Given the description of an element on the screen output the (x, y) to click on. 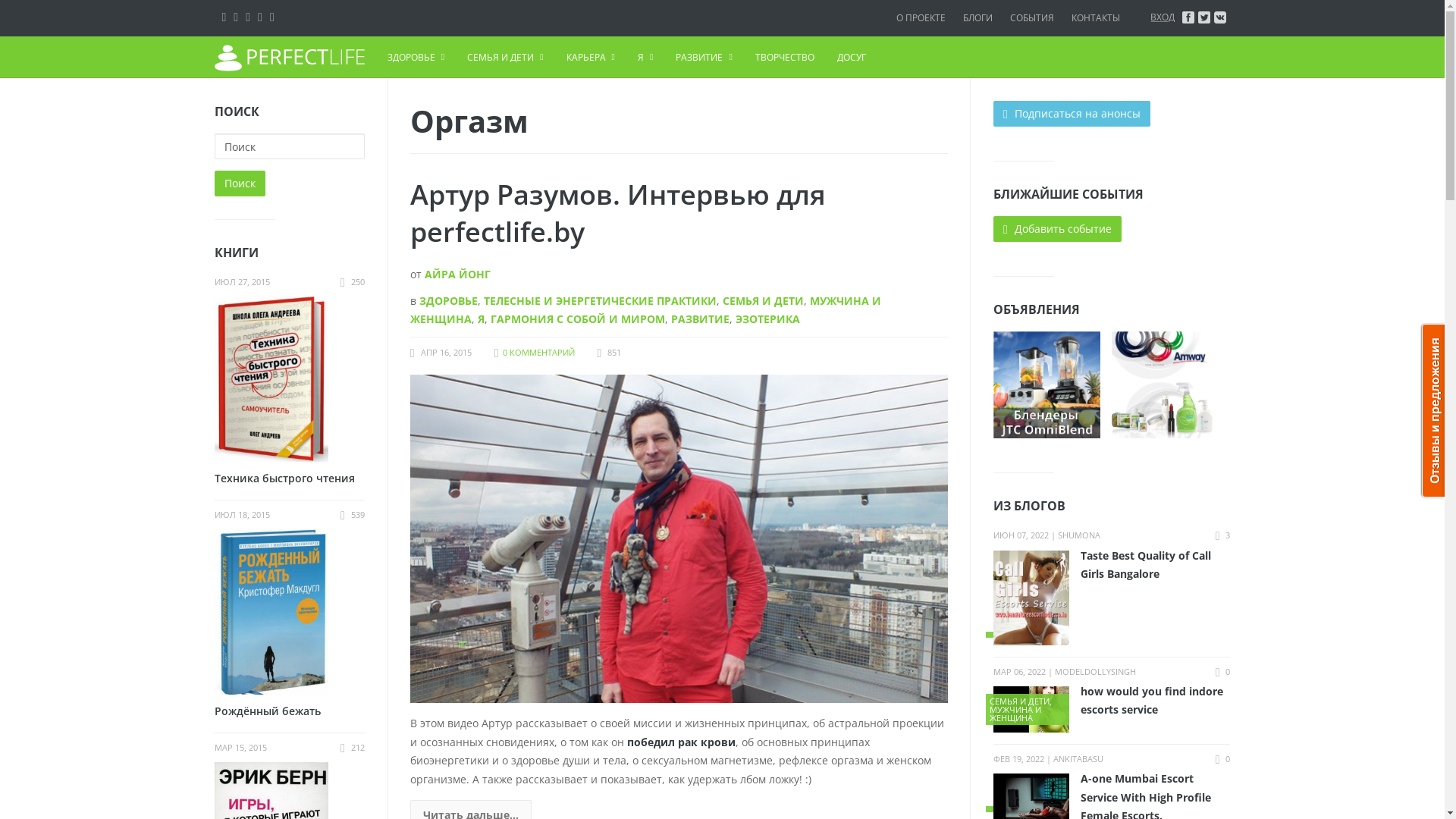
Google+ Element type: hover (259, 15)
Facebook Element type: hover (235, 15)
Taste Best Quality of Call Girls Bangalore Element type: text (1111, 564)
Youtube Element type: hover (271, 15)
Twitter Element type: hover (247, 15)
vkontakte Element type: hover (1220, 17)
twitter Element type: hover (1204, 17)
facebook Element type: hover (1188, 17)
how would you find indore escorts service Element type: text (1111, 700)
VK Element type: hover (223, 15)
